Given the description of an element on the screen output the (x, y) to click on. 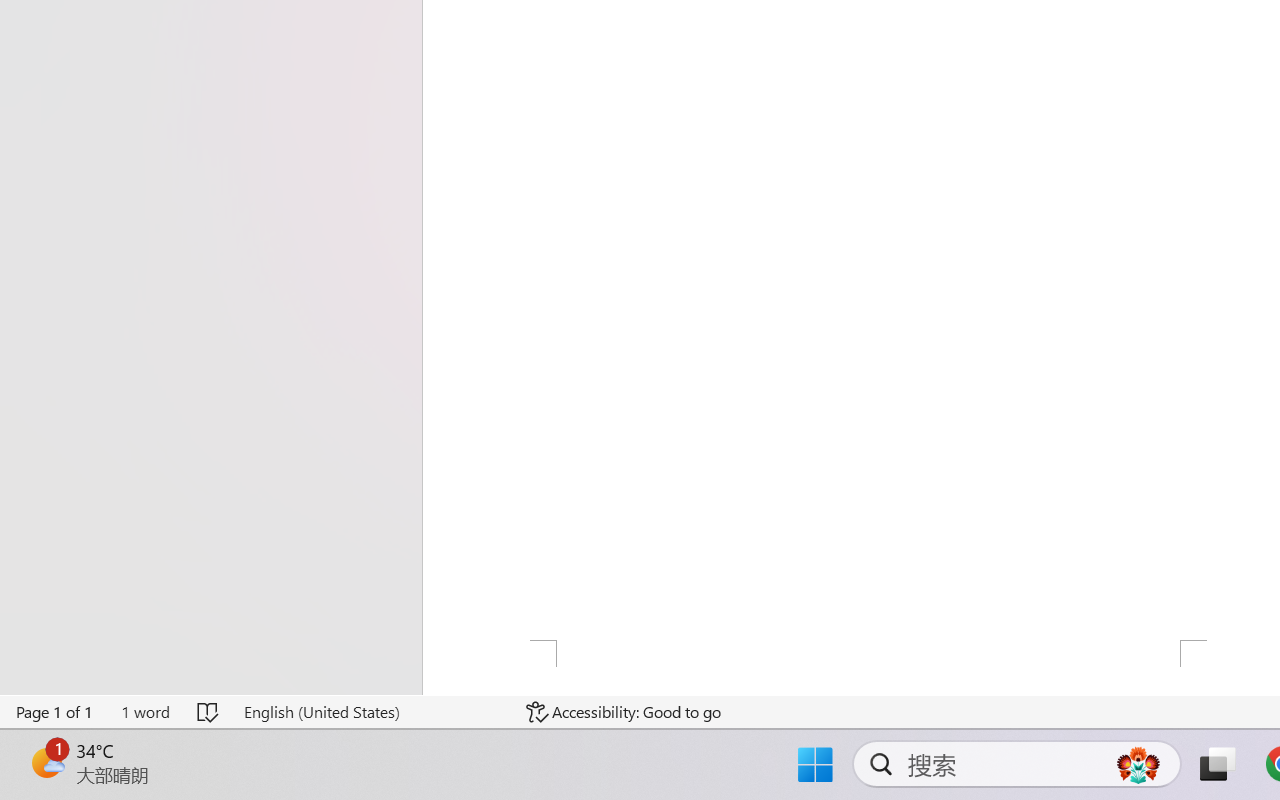
Spelling and Grammar Check No Errors (208, 712)
Word Count 1 word (145, 712)
Accessibility Checker Accessibility: Good to go (623, 712)
Page Number Page 1 of 1 (55, 712)
Language English (United States) (370, 712)
AutomationID: BadgeAnchorLargeTicker (46, 762)
AutomationID: DynamicSearchBoxGleamImage (1138, 764)
